Given the description of an element on the screen output the (x, y) to click on. 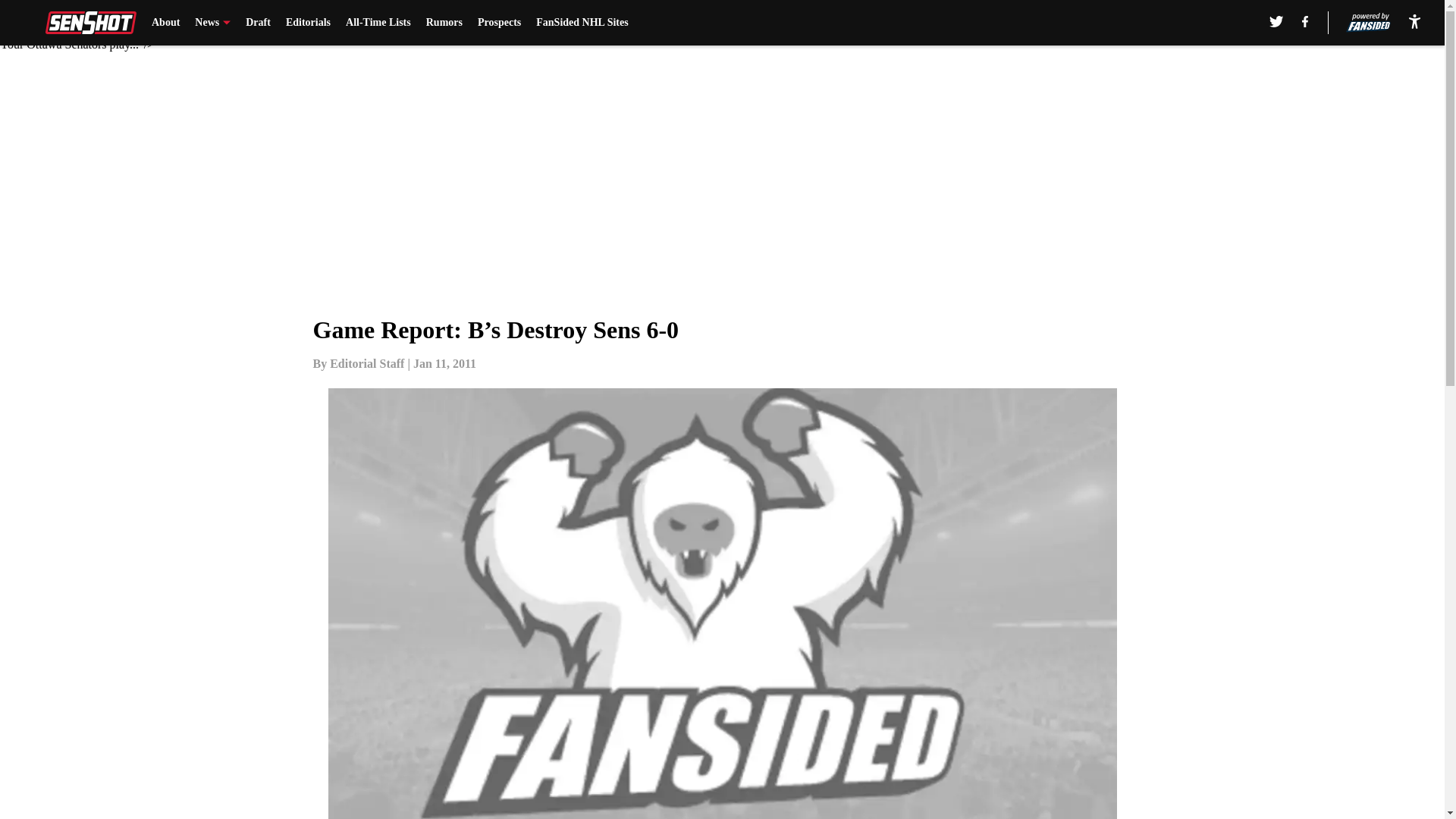
About (165, 22)
Rumors (444, 22)
Editorials (307, 22)
Draft (258, 22)
FanSided NHL Sites (581, 22)
All-Time Lists (378, 22)
Prospects (499, 22)
